Given the description of an element on the screen output the (x, y) to click on. 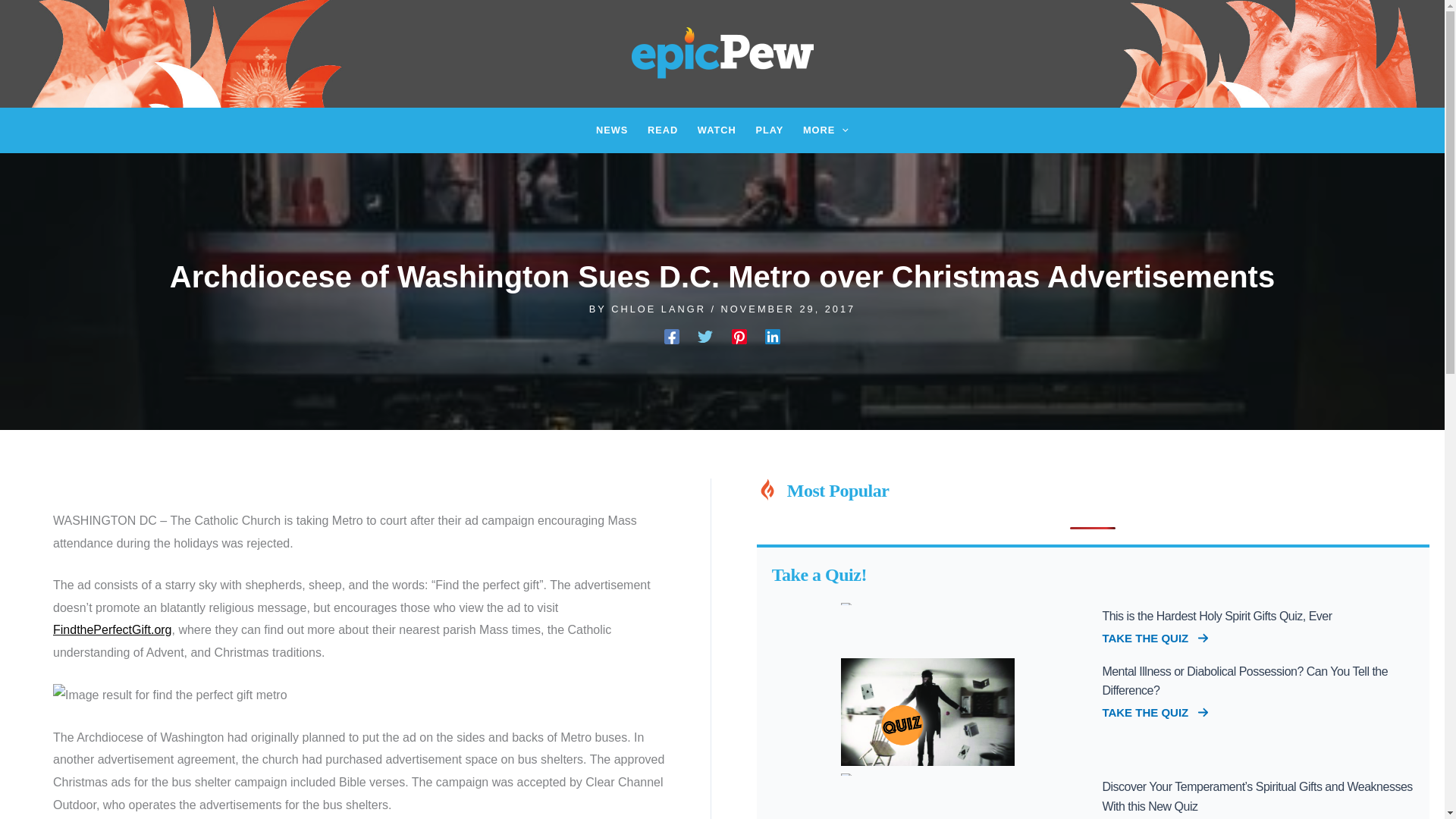
PLAY (769, 130)
FindthePerfectGift.org (111, 629)
NEWS (611, 130)
WATCH (716, 130)
View all posts by Chloe Langr (660, 308)
READ (662, 130)
MORE (826, 130)
CHLOE LANGR (660, 308)
TAKE THE QUIZ (1155, 638)
